Given the description of an element on the screen output the (x, y) to click on. 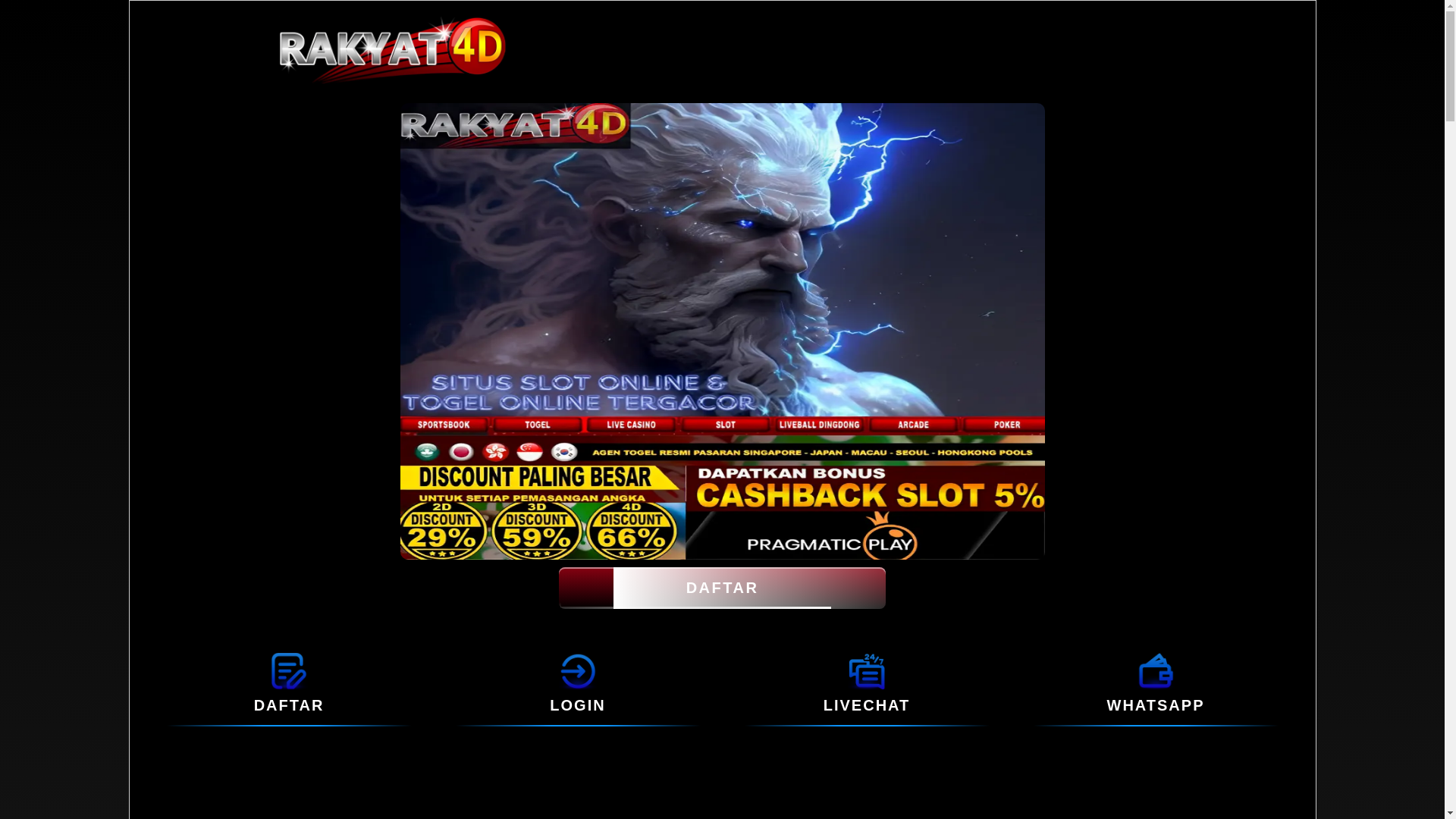
WHATSAPP (1155, 704)
WHATSAPP (1155, 670)
LIVECHAT (867, 704)
LOGIN (577, 704)
DAFTAR (288, 704)
DAFTAR (722, 588)
DAFTAR (288, 670)
LIVECHAT (866, 670)
LOGIN (577, 670)
